Given the description of an element on the screen output the (x, y) to click on. 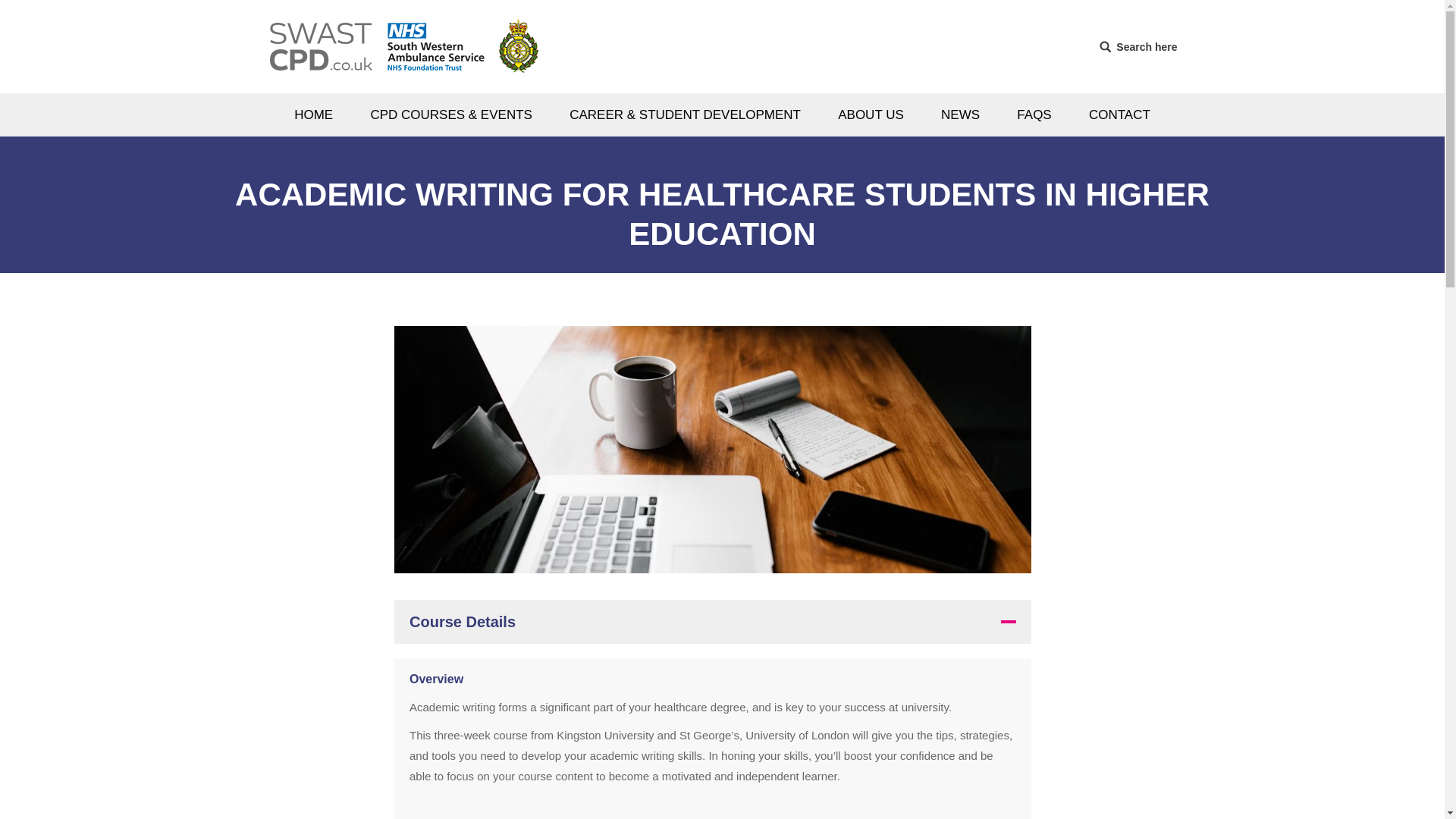
Go! (23, 14)
Search here (1137, 46)
HOME (313, 114)
